Given the description of an element on the screen output the (x, y) to click on. 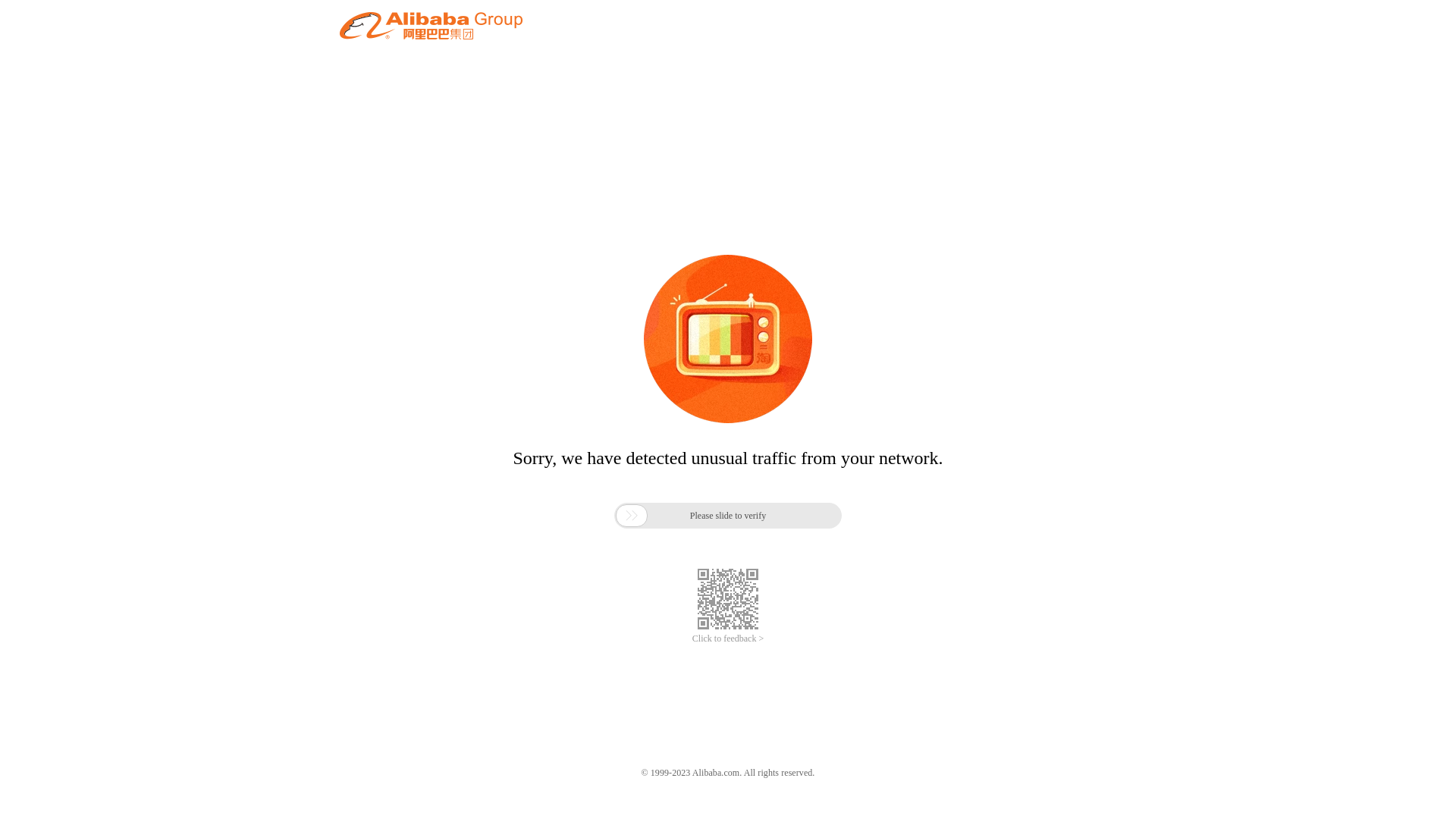
Click to feedback > Element type: text (727, 638)
